Given the description of an element on the screen output the (x, y) to click on. 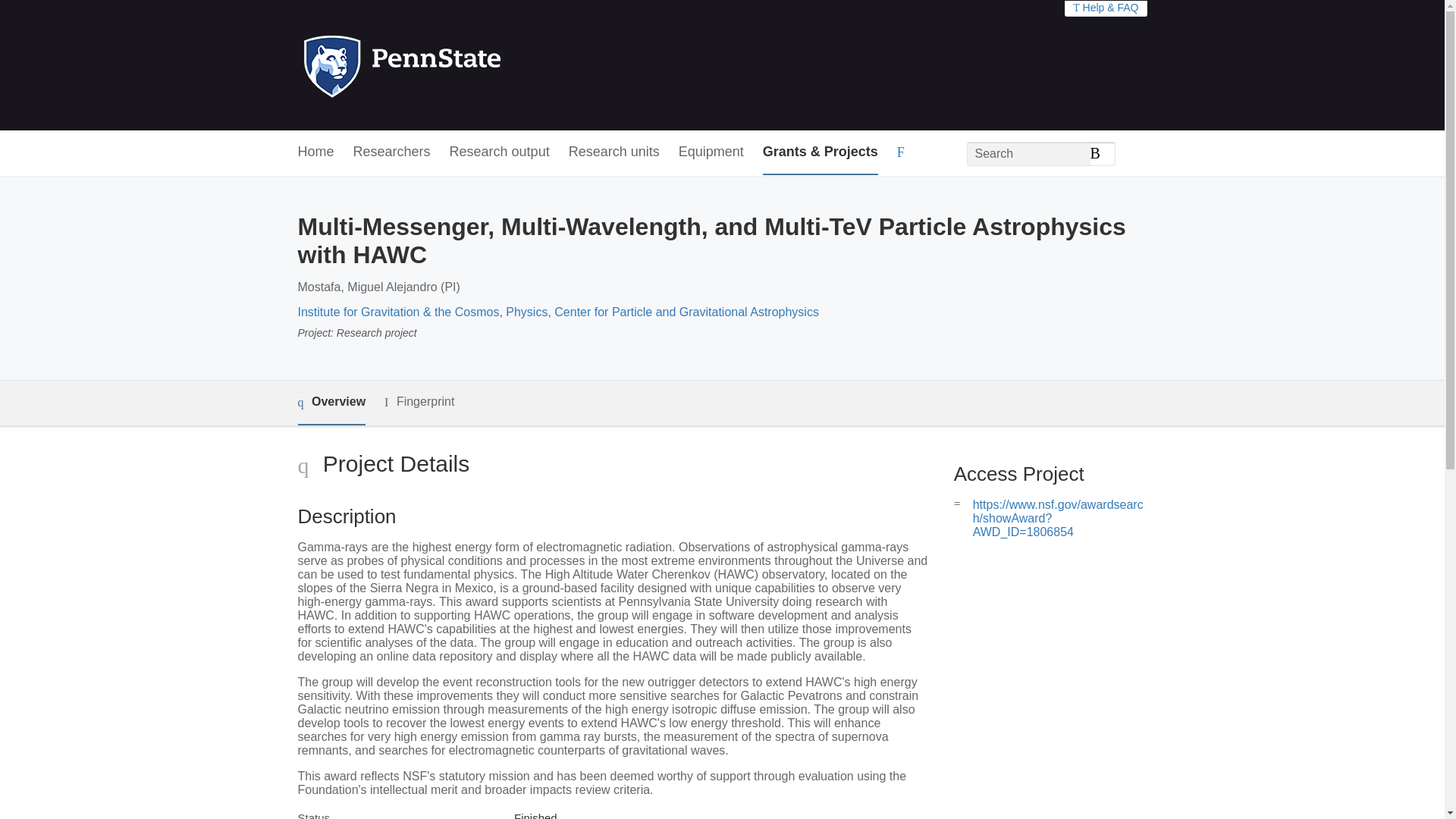
Research units (614, 152)
Research output (499, 152)
Fingerprint (419, 402)
Physics (526, 311)
Center for Particle and Gravitational Astrophysics (686, 311)
Researchers (391, 152)
Penn State Home (467, 65)
Overview (331, 402)
Equipment (711, 152)
